Given the description of an element on the screen output the (x, y) to click on. 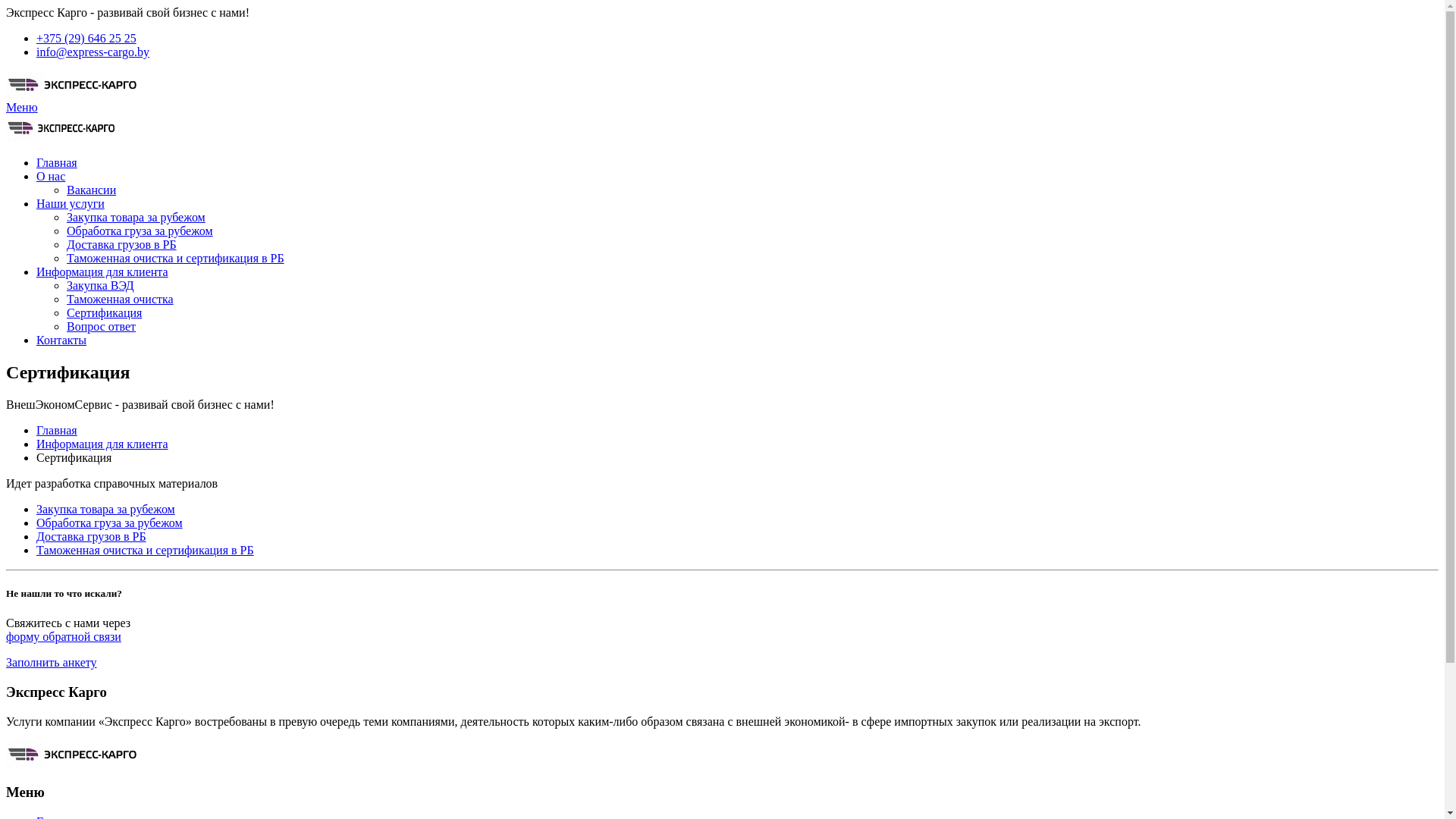
info@express-cargo.by Element type: text (92, 51)
+375 (29) 646 25 25 Element type: text (86, 37)
